Given the description of an element on the screen output the (x, y) to click on. 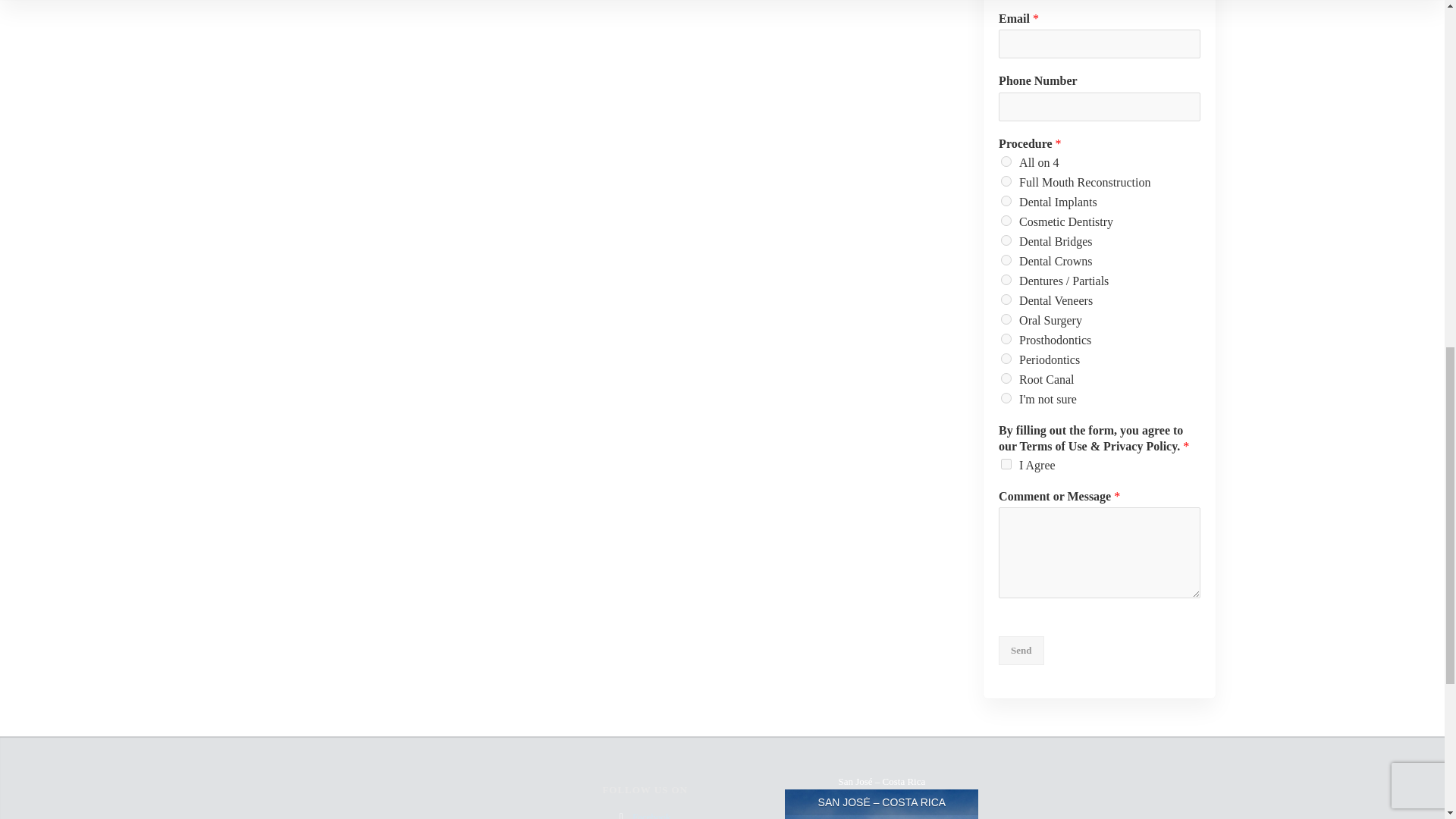
Periodontics (1006, 357)
Dental Veneers (1006, 299)
All on 4 (1006, 161)
Cosmetic Dentistry (1006, 220)
Dental Bridges (1006, 240)
Prosthodontics (1006, 338)
Oral Surgery (1006, 318)
Full Mouth Reconstruction (1006, 181)
Dental Implants (1006, 200)
Dental Crowns (1006, 259)
